Given the description of an element on the screen output the (x, y) to click on. 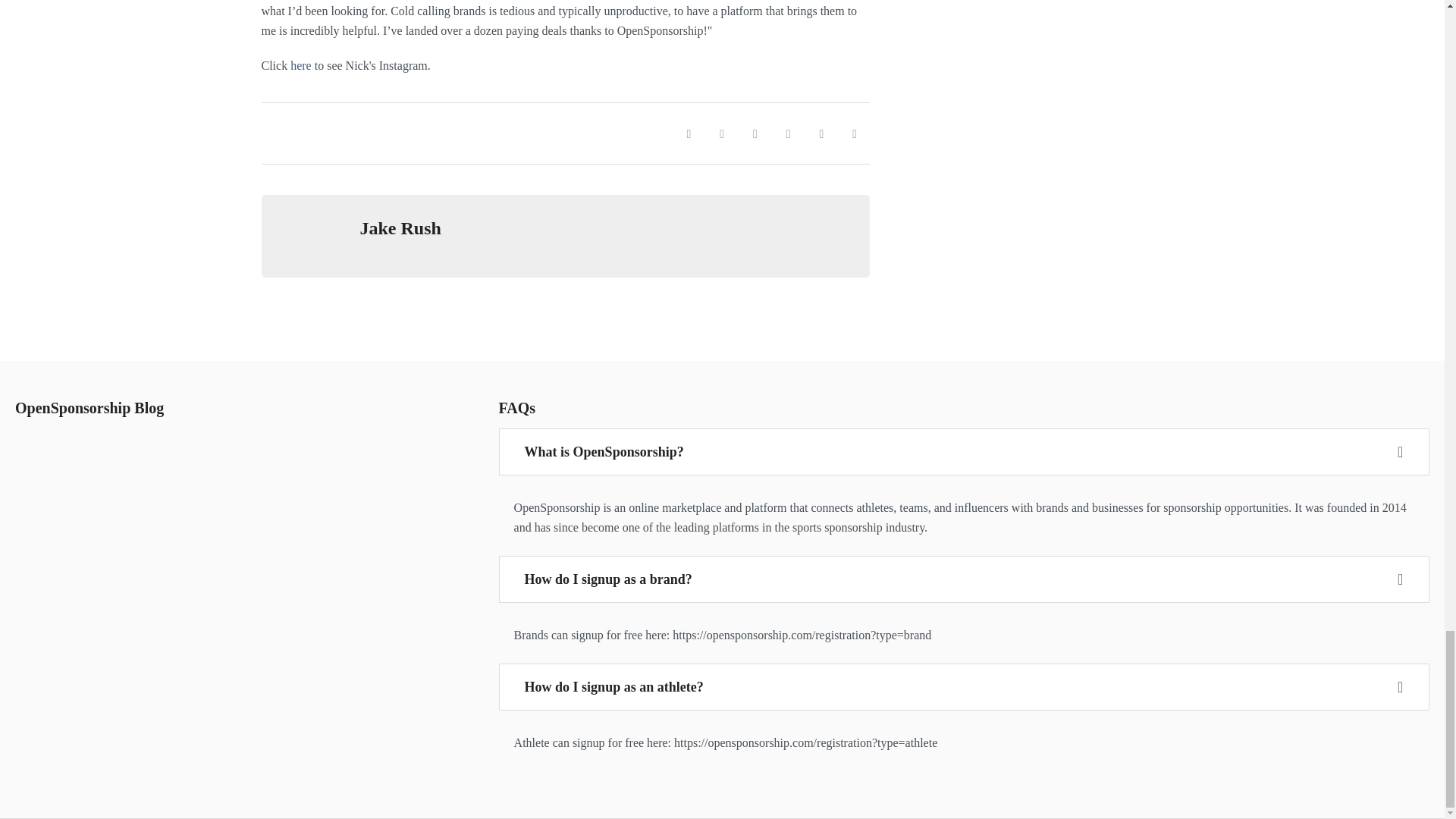
Jake Rush (400, 228)
Facebook (687, 132)
skype (854, 132)
Whatsapp (754, 132)
Pinterest (820, 132)
Telegram (788, 132)
here (300, 65)
Twitter (721, 132)
